Given the description of an element on the screen output the (x, y) to click on. 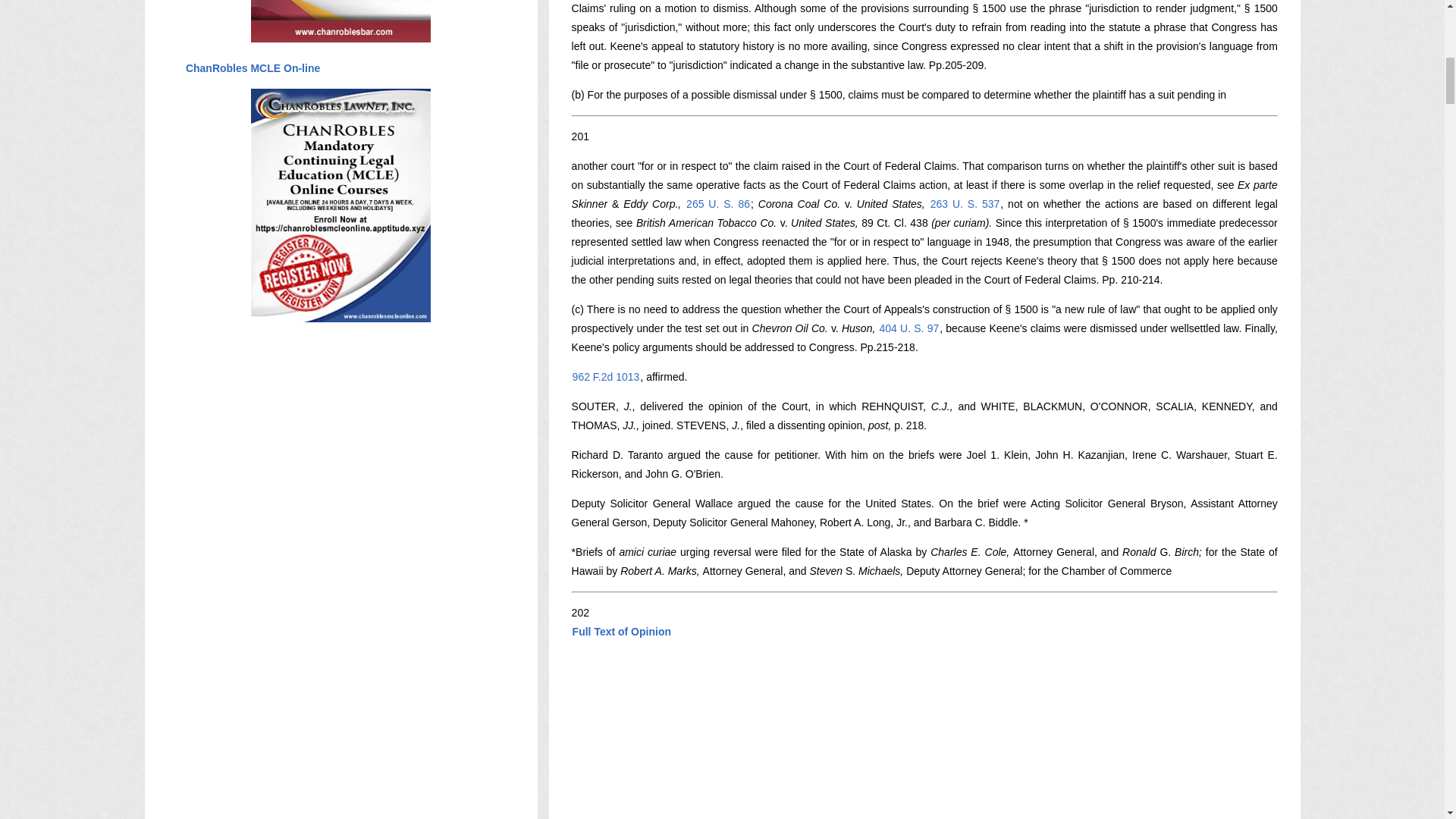
962 F.2d 1013 (606, 377)
Full Text of Opinion (621, 631)
263 U. S. 537 (965, 203)
202 (580, 612)
265 U. S. 86 (718, 203)
ChanRobles MCLE On-line (252, 68)
201 (580, 136)
404 U. S. 97 (909, 328)
